Given the description of an element on the screen output the (x, y) to click on. 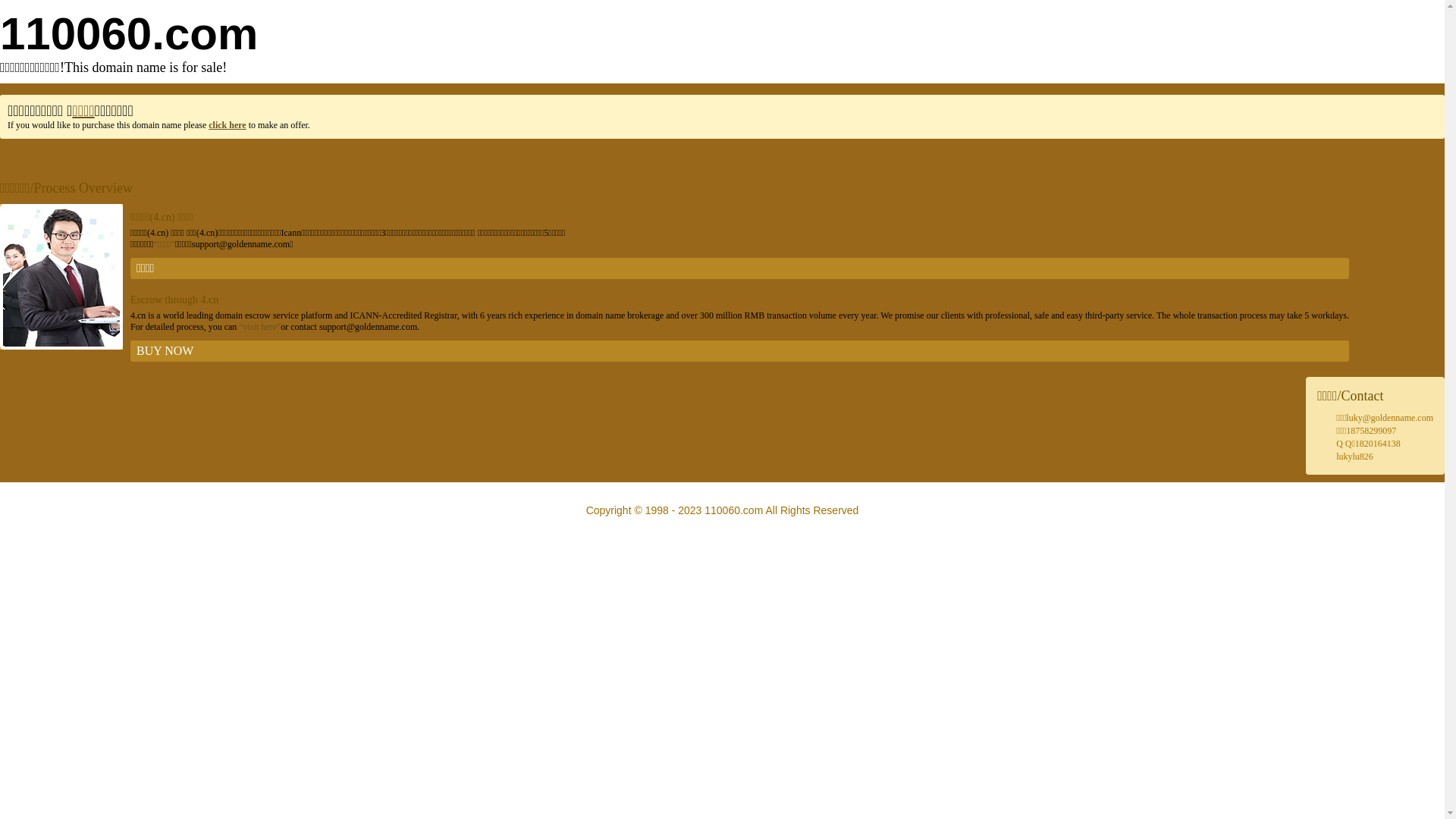
click here Element type: text (226, 124)
BUY NOW Element type: text (739, 350)
